Given the description of an element on the screen output the (x, y) to click on. 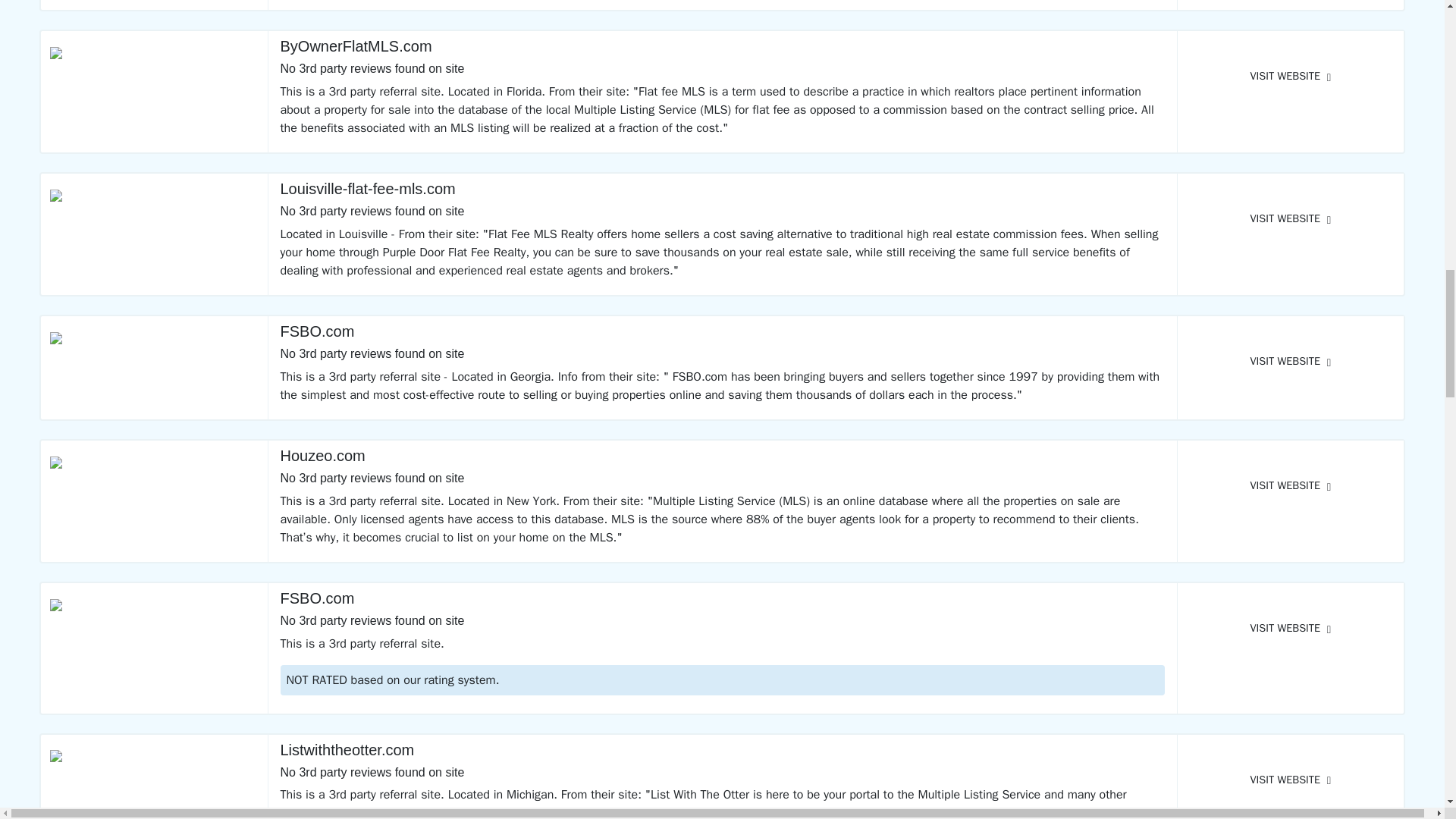
VISIT WEBSITE   (1290, 485)
VISIT WEBSITE   (1290, 218)
VISIT WEBSITE   (1290, 628)
VISIT WEBSITE   (1290, 779)
VISIT WEBSITE   (1290, 361)
VISIT WEBSITE   (1290, 76)
